Given the description of an element on the screen output the (x, y) to click on. 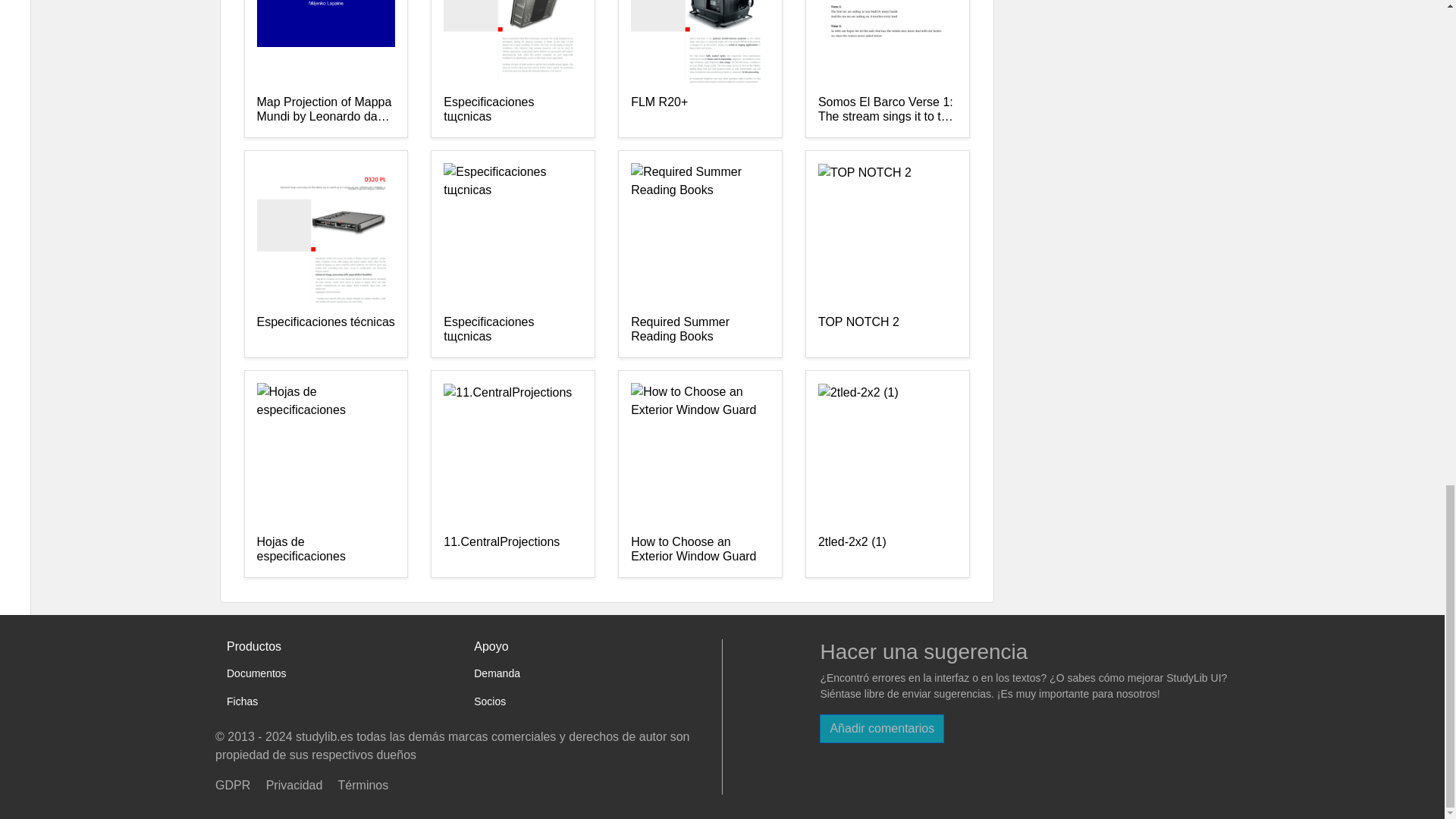
Required Summer Reading Books (700, 329)
Hojas de especificaciones (325, 549)
Map Projection of Mappa Mundi by Leonardo da Vinci (325, 110)
TOP NOTCH 2 (887, 329)
Map Projection of Mappa Mundi by Leonardo da Vinci (325, 110)
11.CentralProjections (513, 549)
Required Summer Reading Books (700, 329)
How to Choose an Exterior Window Guard (700, 549)
